Given the description of an element on the screen output the (x, y) to click on. 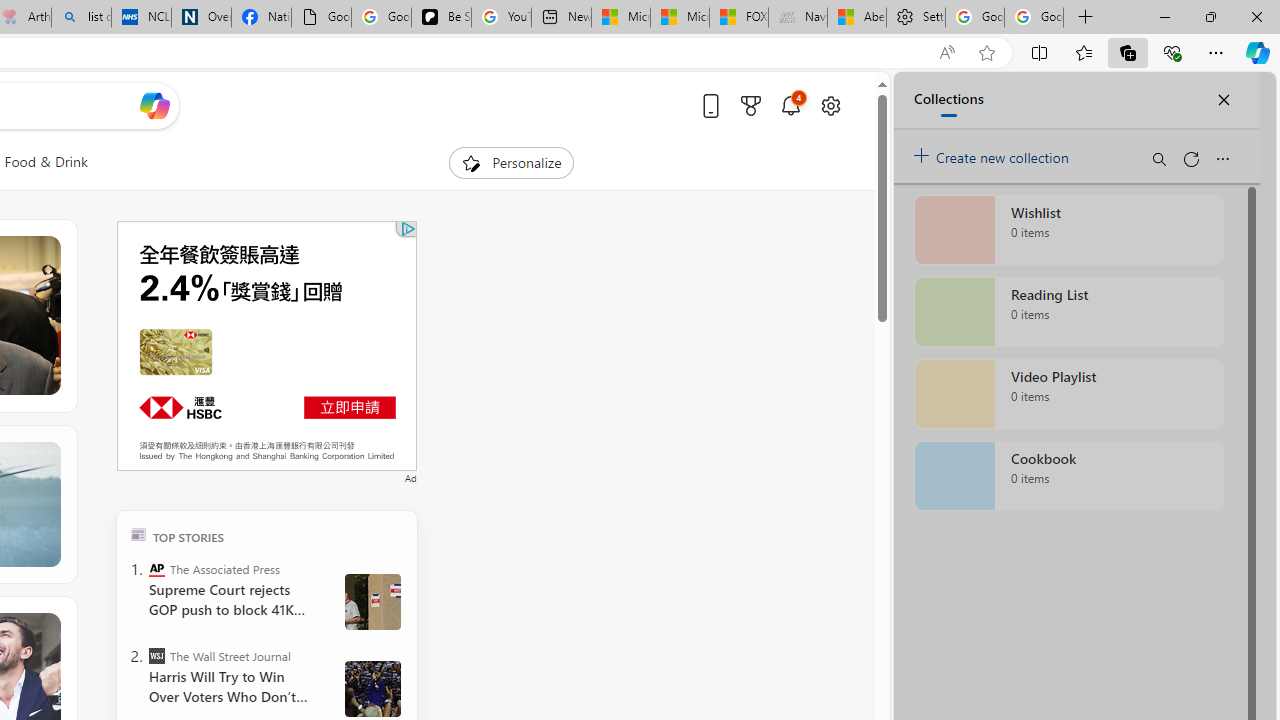
Google Analytics Opt-out Browser Add-on Download Page (320, 17)
Aberdeen, Hong Kong SAR hourly forecast | Microsoft Weather (856, 17)
